Given the description of an element on the screen output the (x, y) to click on. 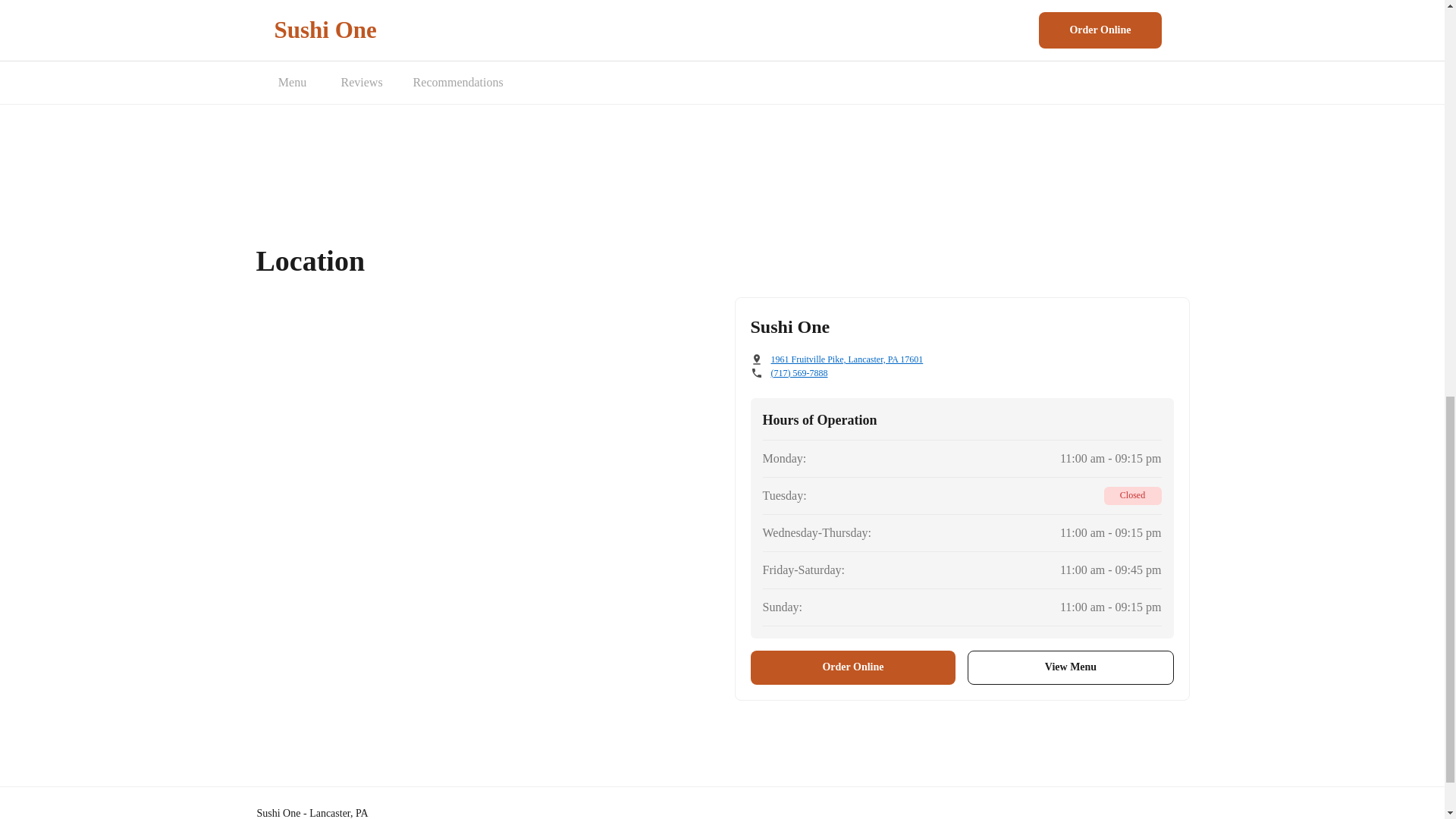
1961 Fruitville Pike, Lancaster, PA 17601 (846, 359)
Order Online (853, 667)
View Menu (1070, 667)
